Given the description of an element on the screen output the (x, y) to click on. 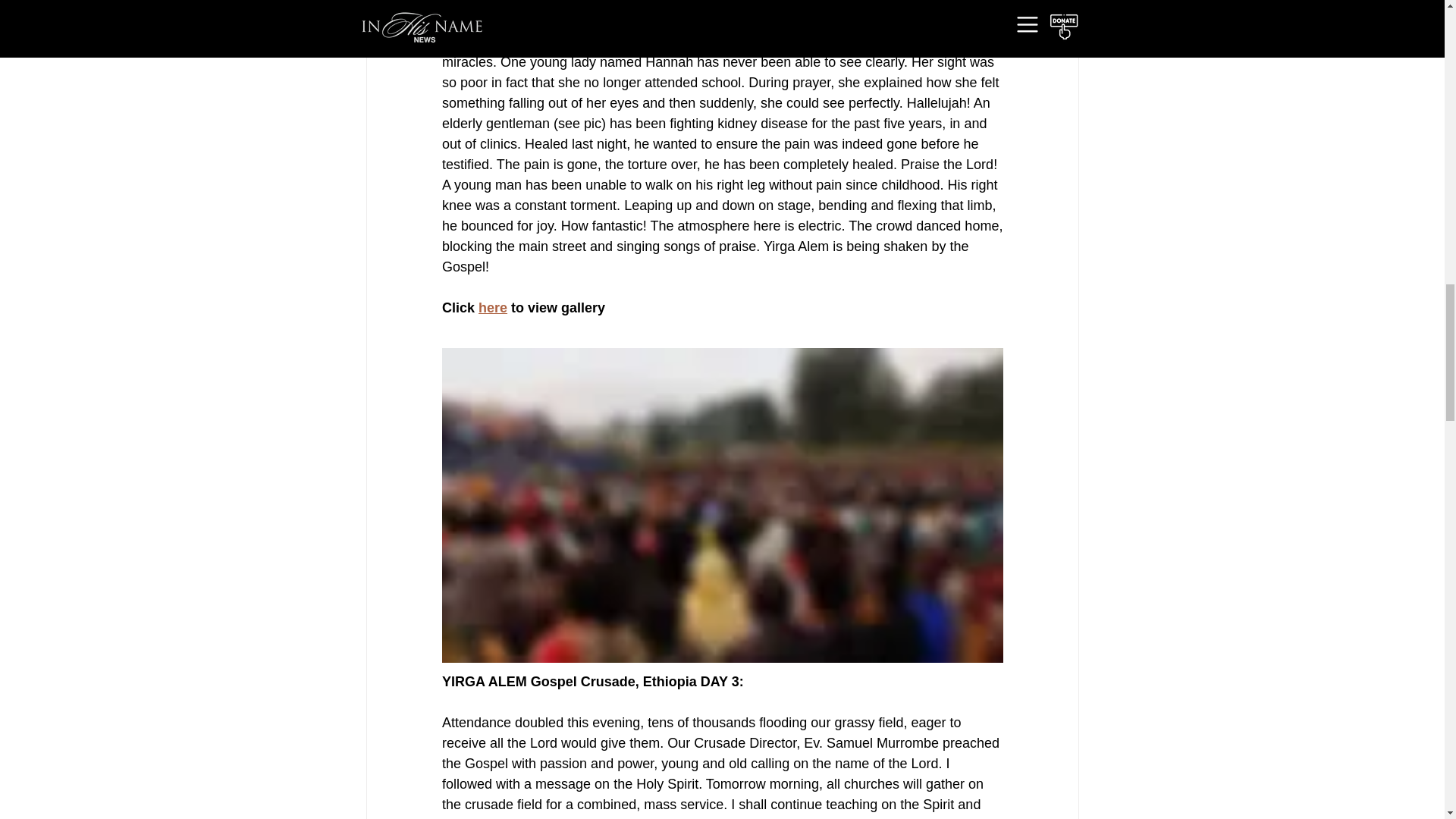
here (492, 307)
